Given the description of an element on the screen output the (x, y) to click on. 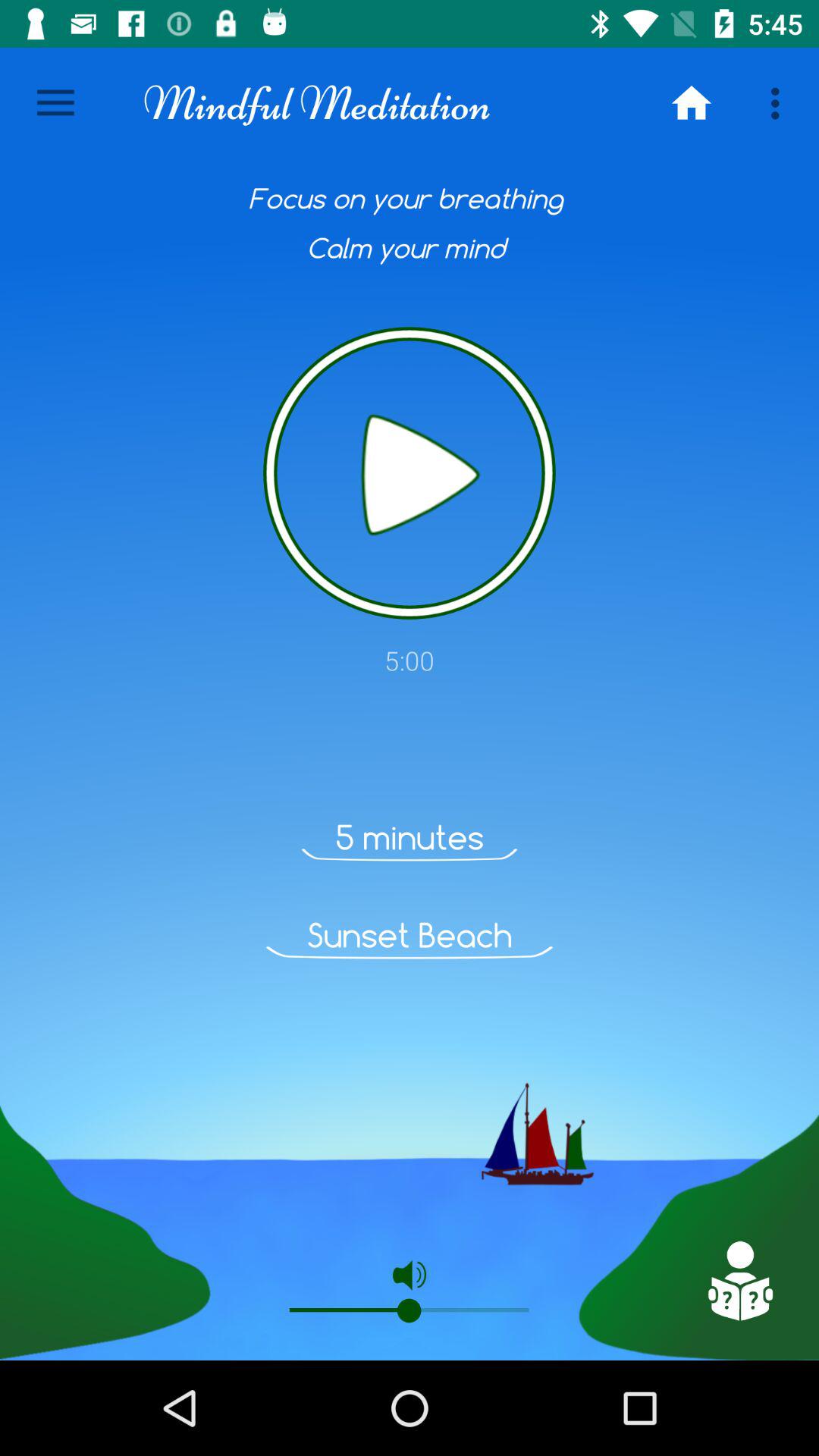
jump to 5 minutes   icon (409, 837)
